Given the description of an element on the screen output the (x, y) to click on. 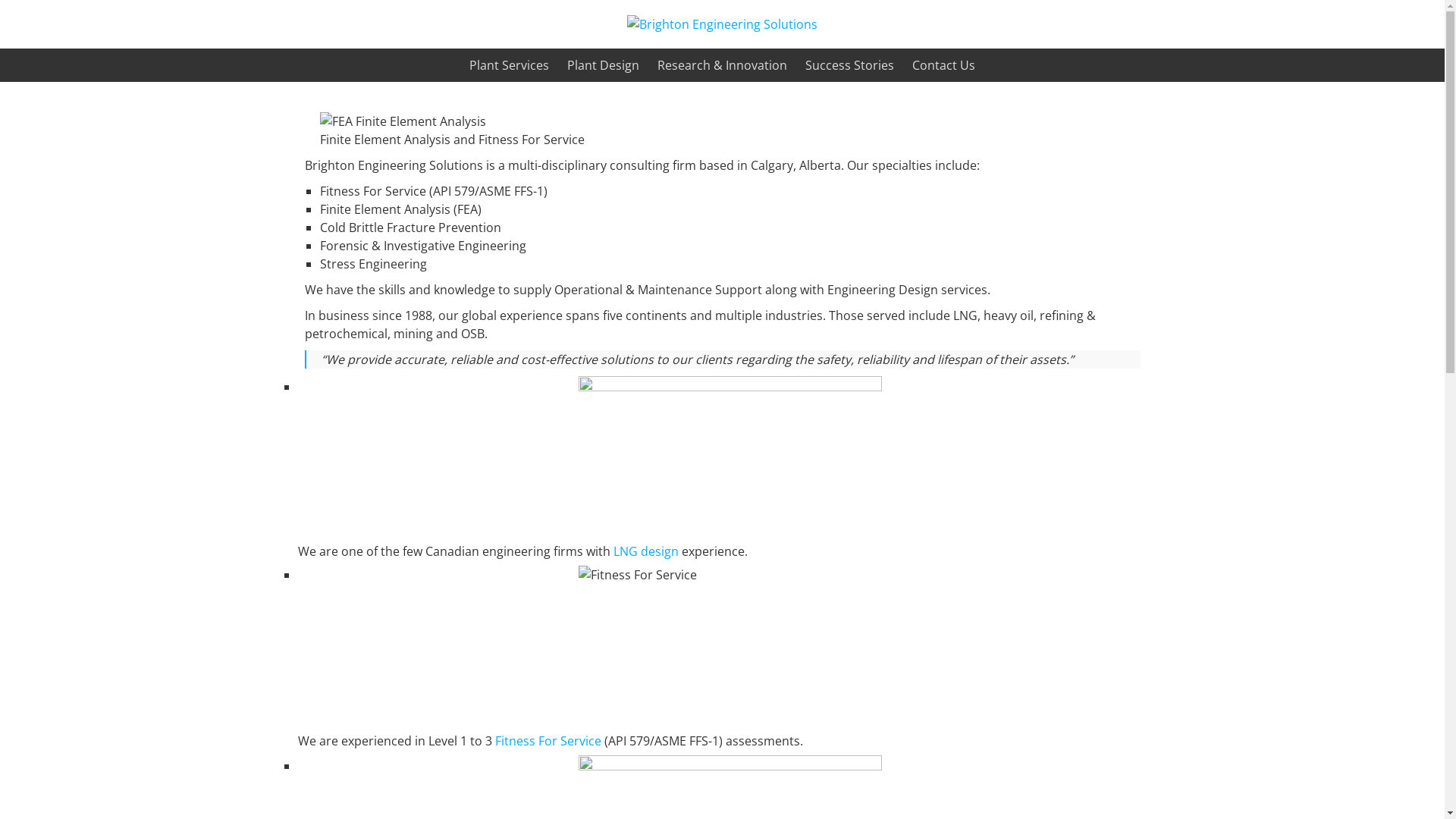
Success Stories Element type: text (849, 64)
Brighton Engineering Solutions Element type: hover (722, 23)
Plant Design Element type: text (603, 64)
Plant Services Element type: text (509, 64)
Fitness For Service Element type: text (547, 740)
Contact Us Element type: text (943, 64)
Research & Innovation Element type: text (722, 64)
FEA Element type: hover (403, 121)
LNG design Element type: text (644, 550)
